Given the description of an element on the screen output the (x, y) to click on. 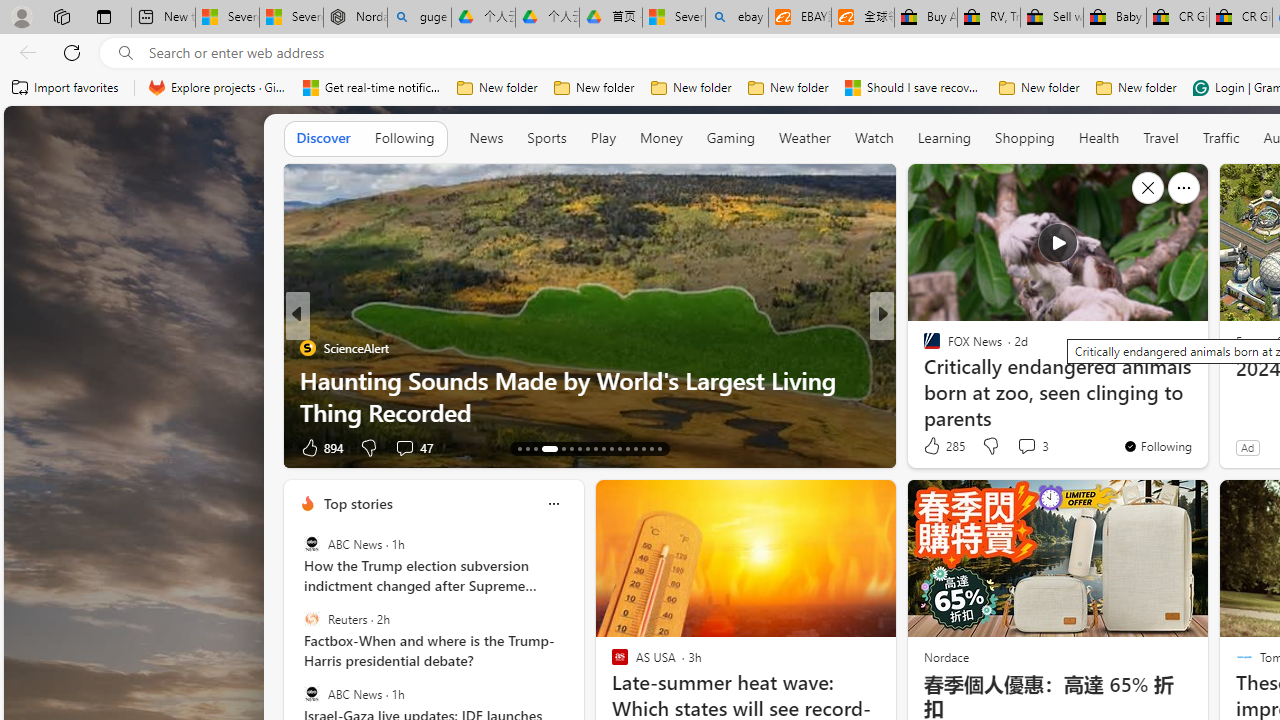
Learning (944, 138)
Start the conversation (1013, 447)
Discover (323, 138)
Weather (804, 138)
Animals Around The Globe (US) (923, 380)
More options (553, 503)
2k Like (933, 447)
Money (661, 138)
AutomationID: tab-16 (542, 448)
AutomationID: tab-41 (650, 448)
View comments 1 Comment (1007, 447)
AutomationID: tab-21 (595, 448)
243 Like (936, 447)
8 Like (930, 447)
